Given the description of an element on the screen output the (x, y) to click on. 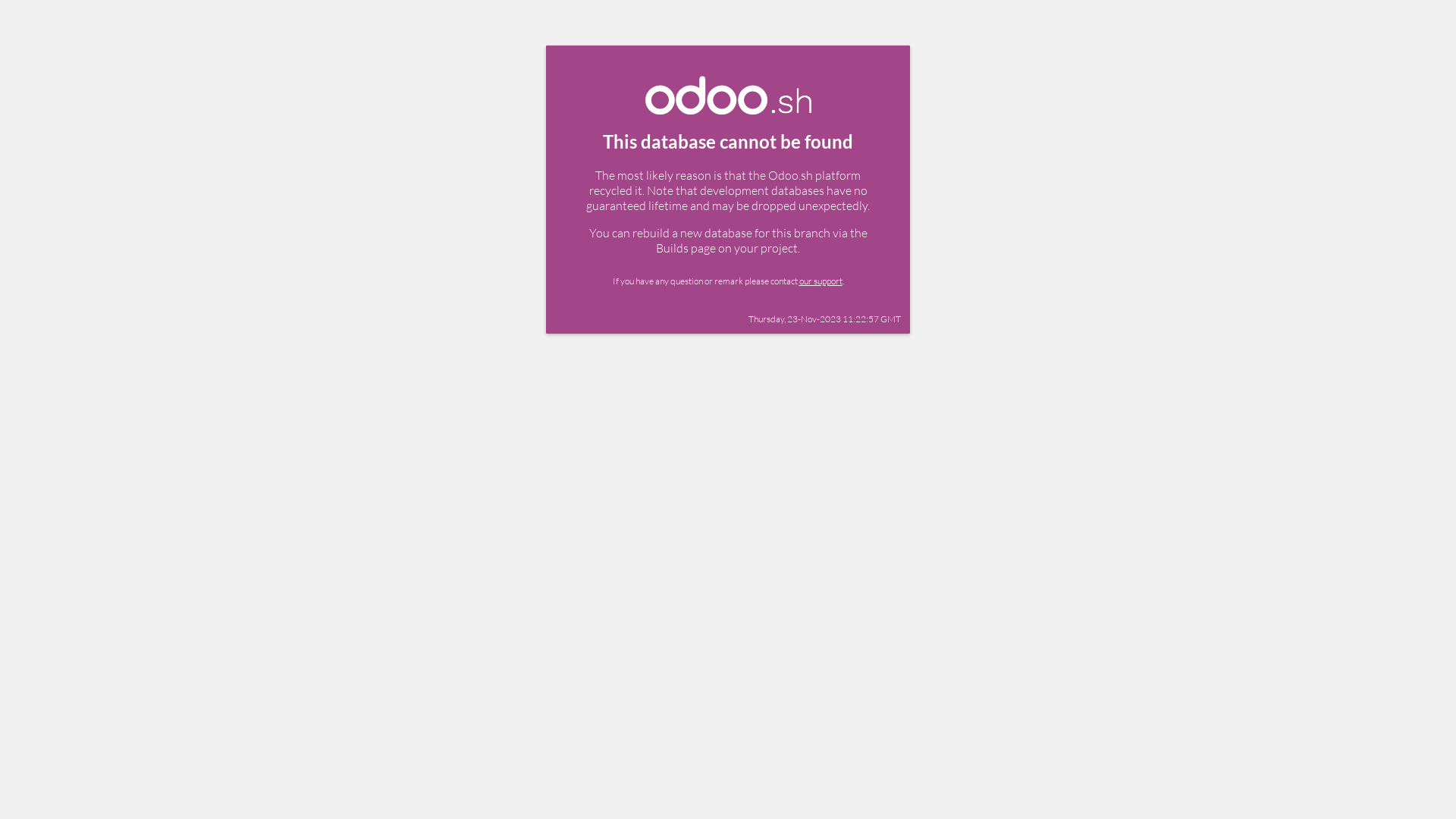
our support Element type: text (820, 280)
